Given the description of an element on the screen output the (x, y) to click on. 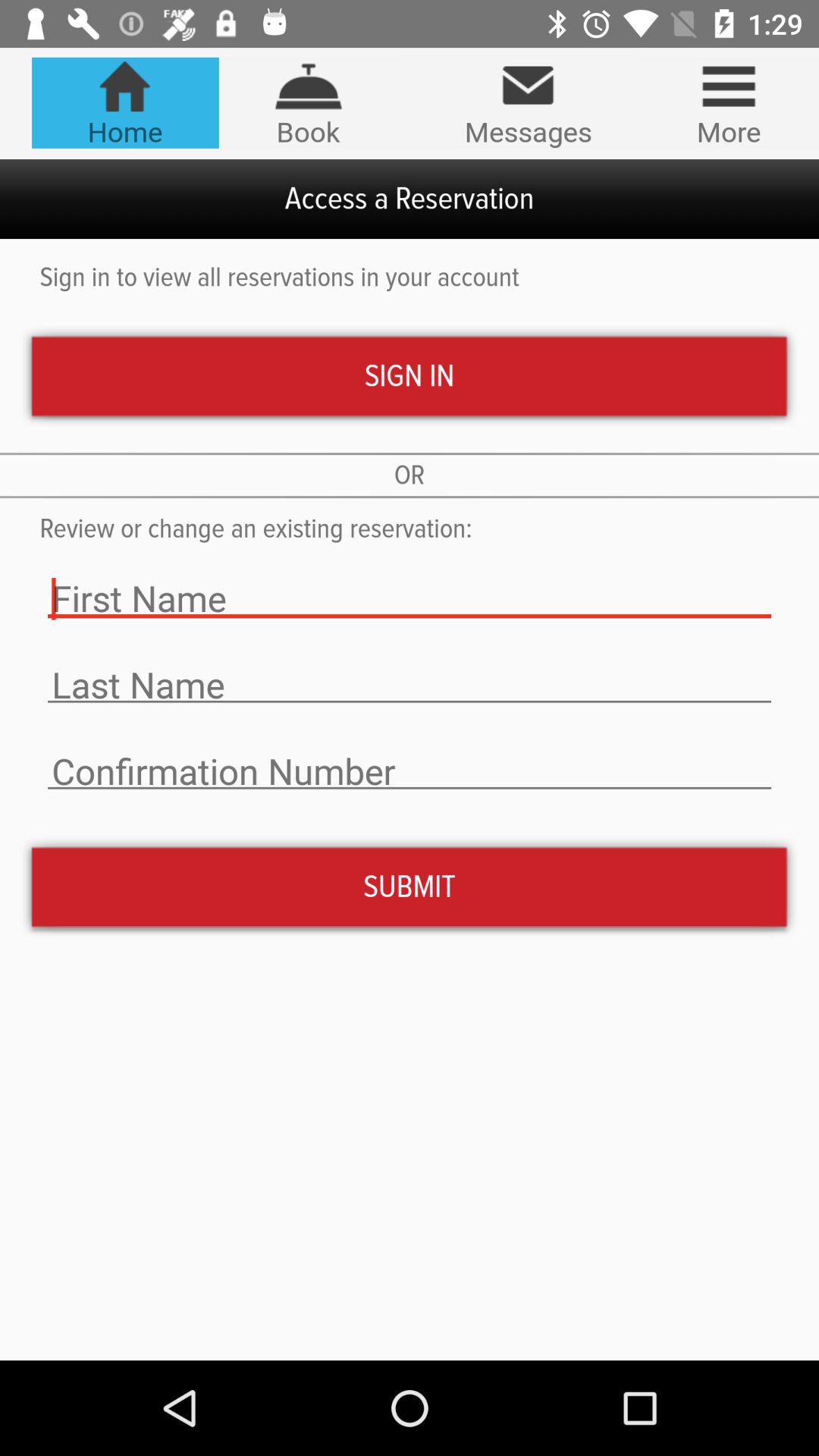
launch the more icon (728, 102)
